Given the description of an element on the screen output the (x, y) to click on. 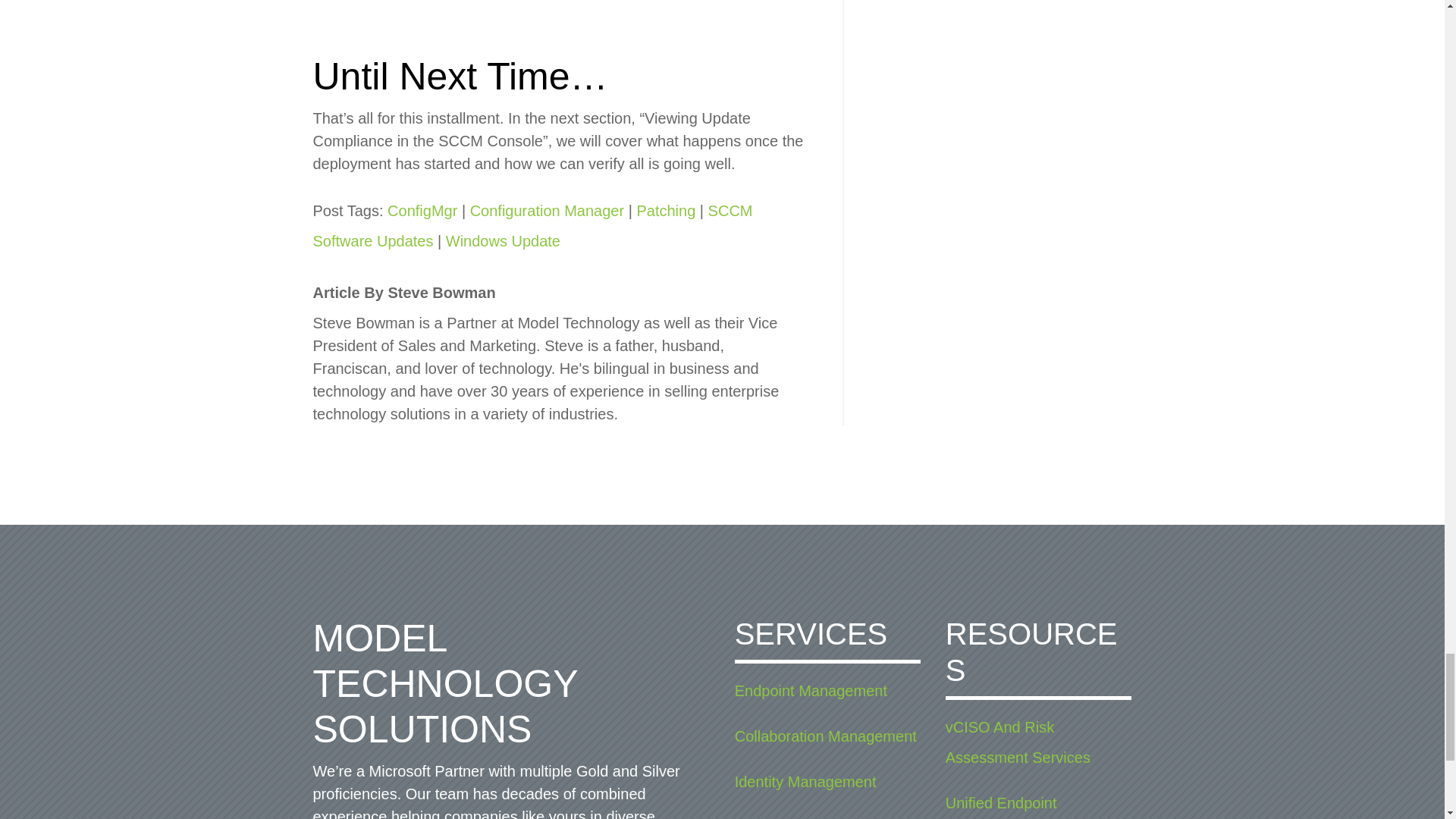
SCCM Software Updates (532, 225)
Patching (665, 210)
ConfigMgr (422, 210)
Windows Update (502, 240)
Configuration Manager (547, 210)
